Given the description of an element on the screen output the (x, y) to click on. 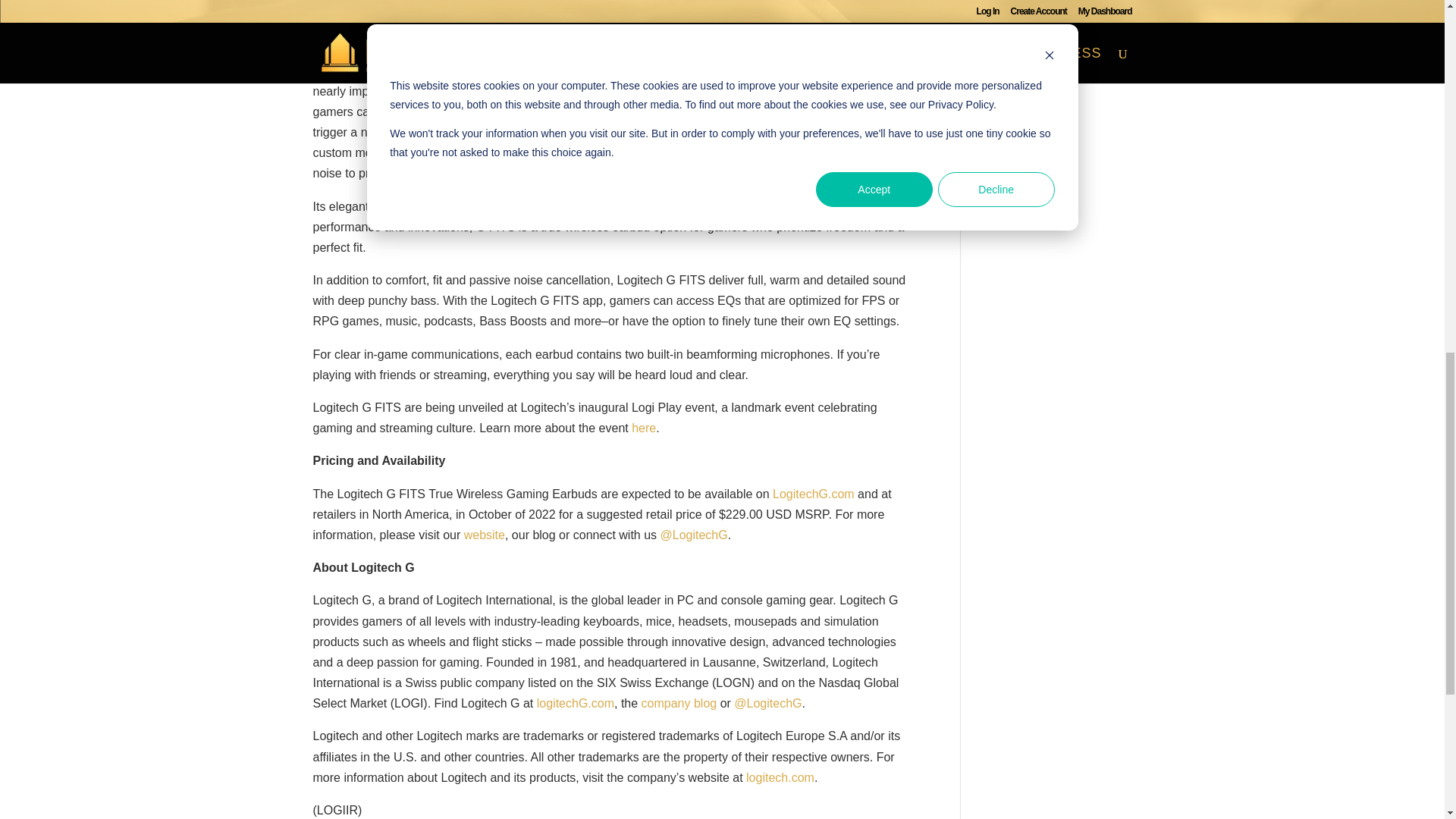
LogitechG.com (813, 493)
logitechG.com (575, 703)
company blog (679, 703)
here (643, 427)
logitech.com (779, 777)
website (484, 534)
